Given the description of an element on the screen output the (x, y) to click on. 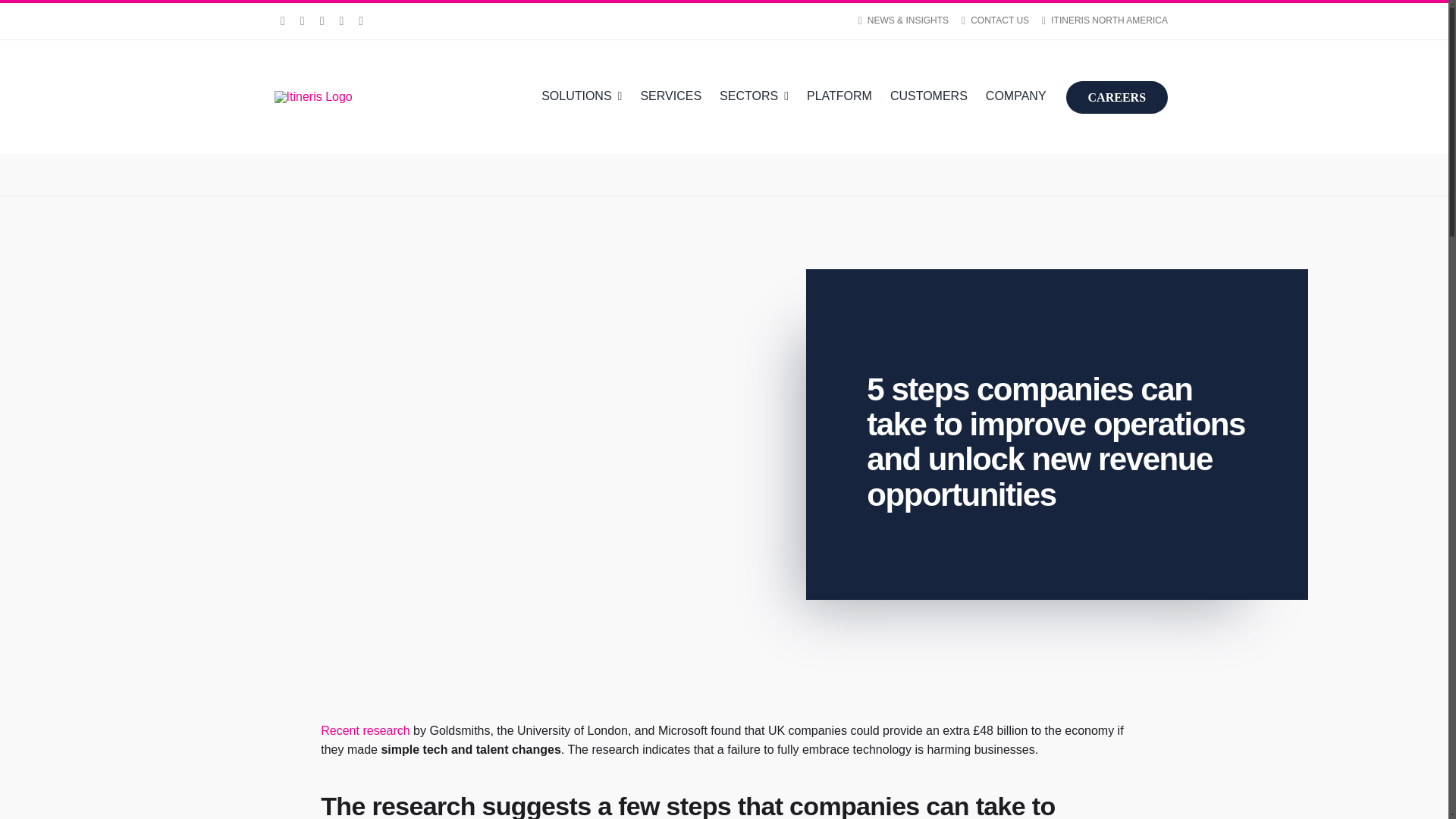
CAREERS (1111, 96)
Recent research (364, 730)
ITINERIS NORTH AMERICA (1098, 21)
SERVICES (670, 97)
CONTACT US (989, 21)
SECTORS (753, 97)
SOLUTIONS (581, 97)
CUSTOMERS (928, 97)
PLATFORM (838, 97)
